Given the description of an element on the screen output the (x, y) to click on. 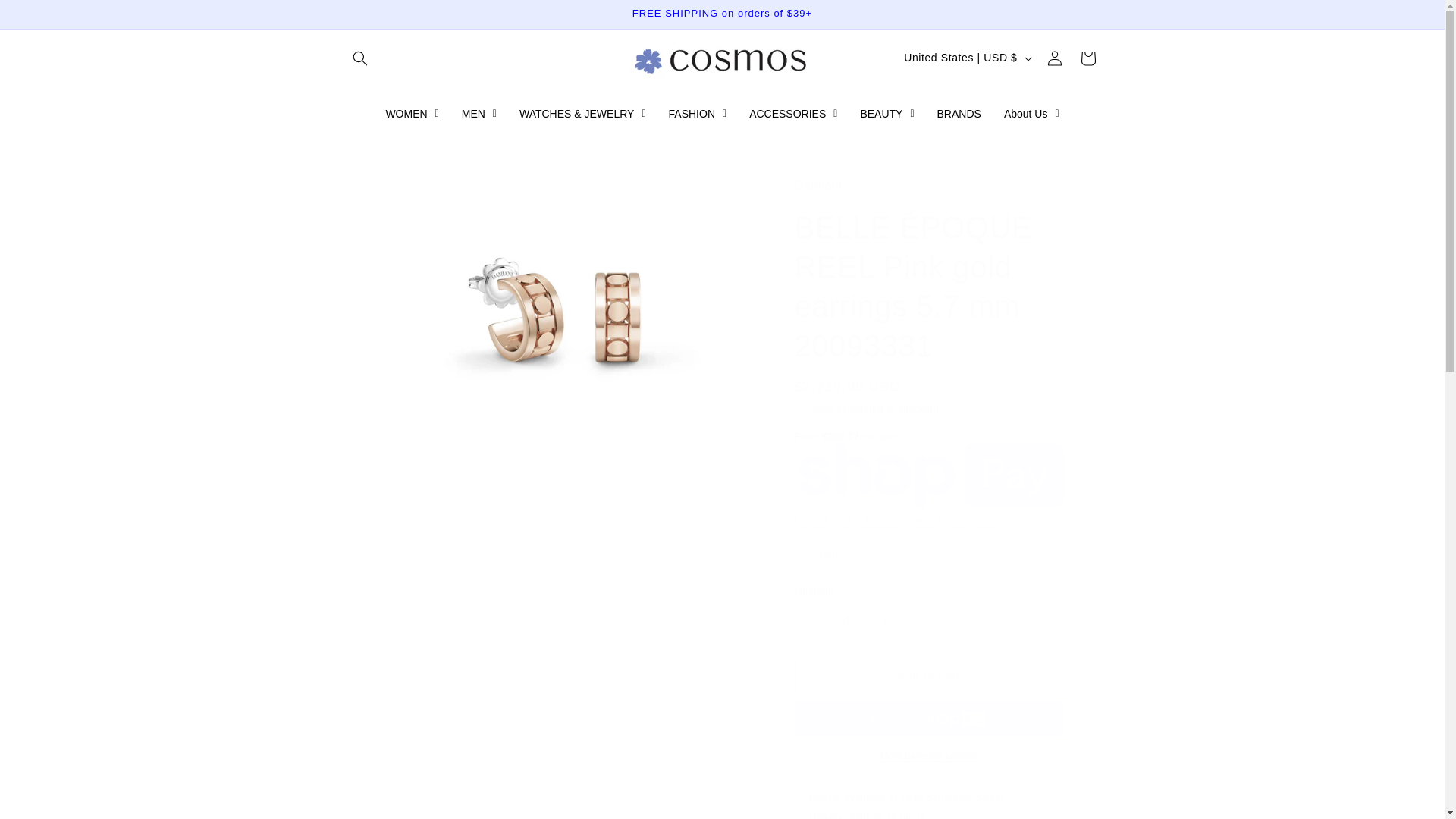
Skip to content (45, 17)
1 (848, 621)
